Given the description of an element on the screen output the (x, y) to click on. 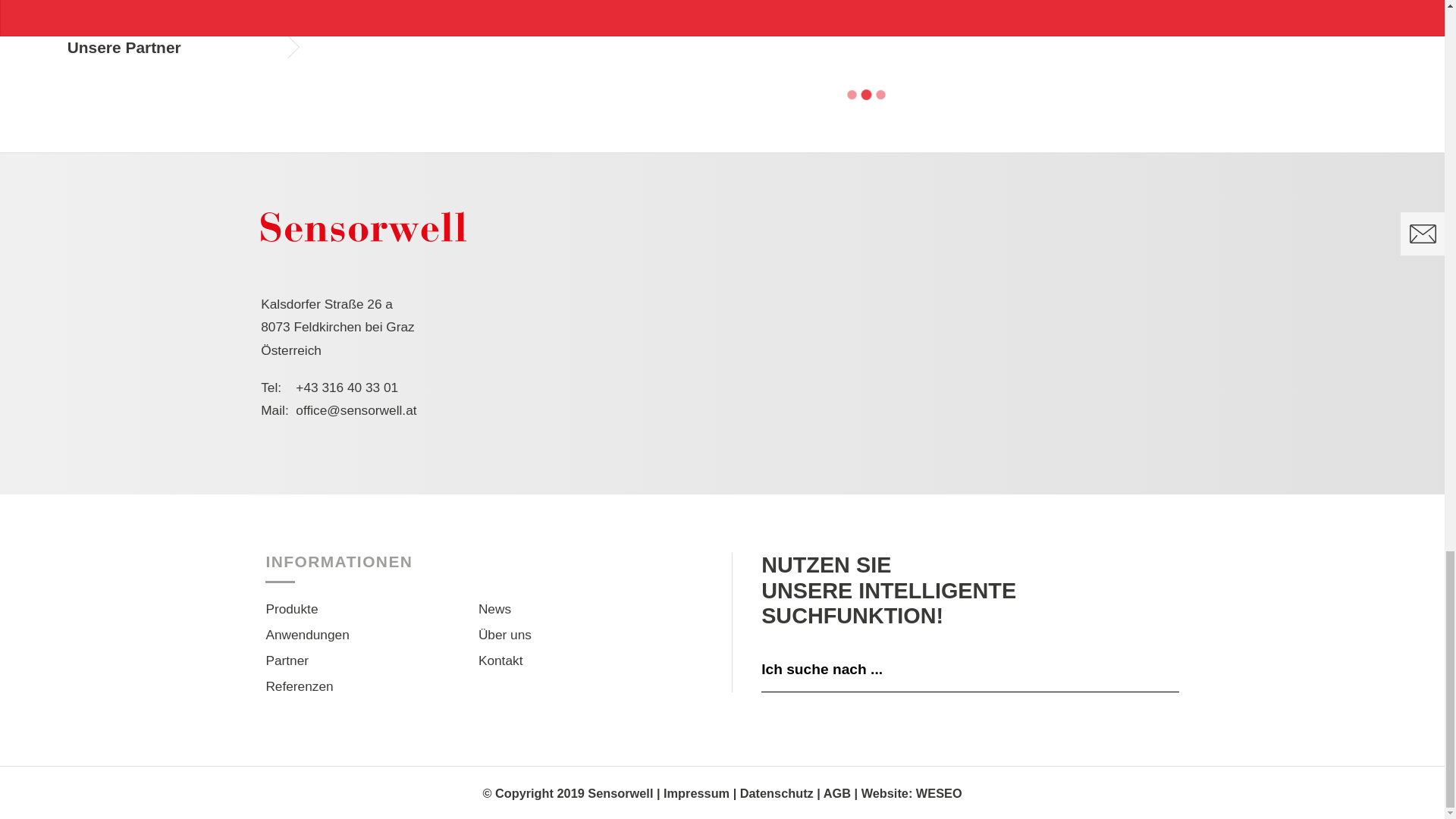
logo-sensorwell (362, 226)
